Given the description of an element on the screen output the (x, y) to click on. 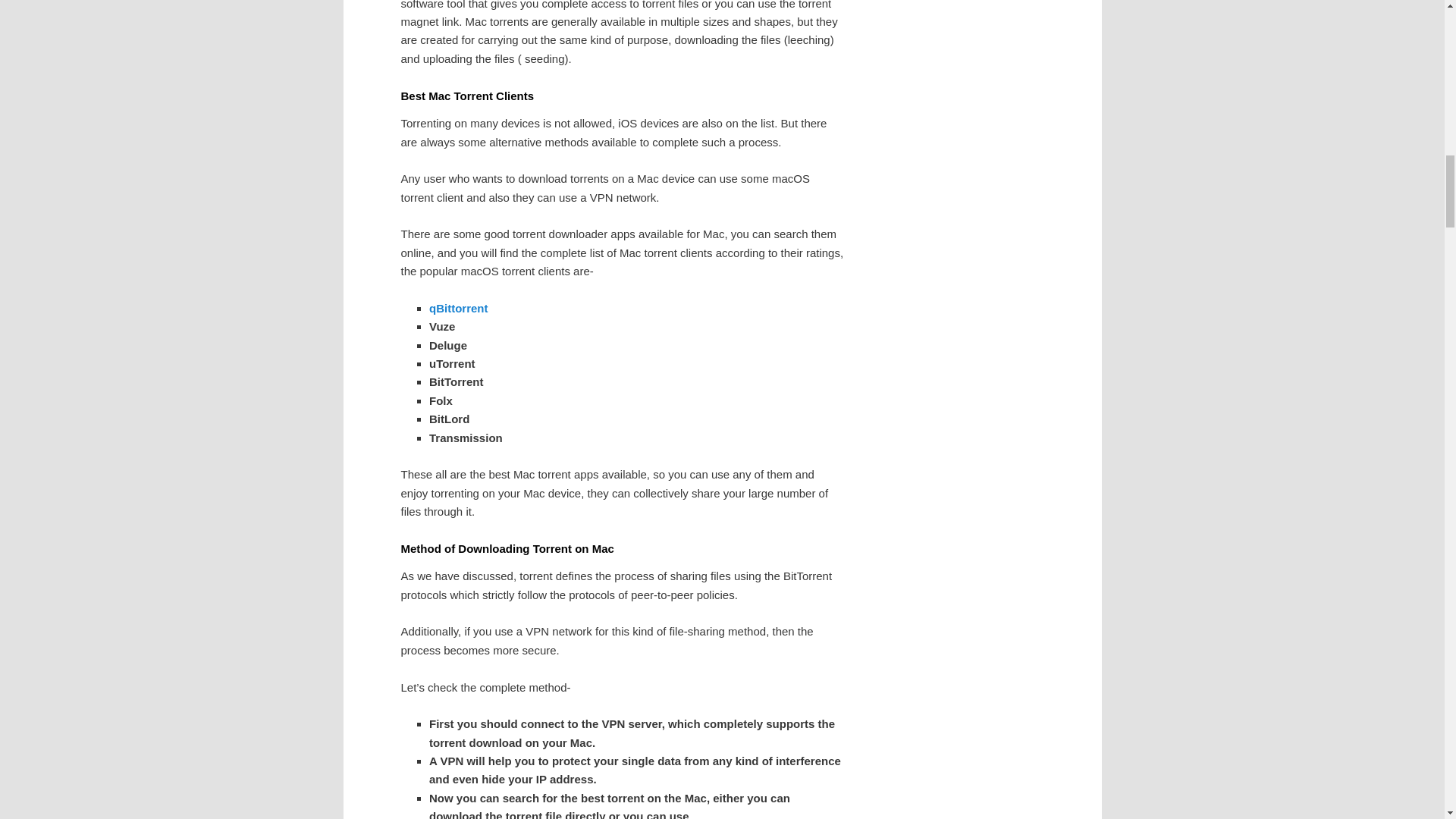
qBittorrent (458, 308)
